Given the description of an element on the screen output the (x, y) to click on. 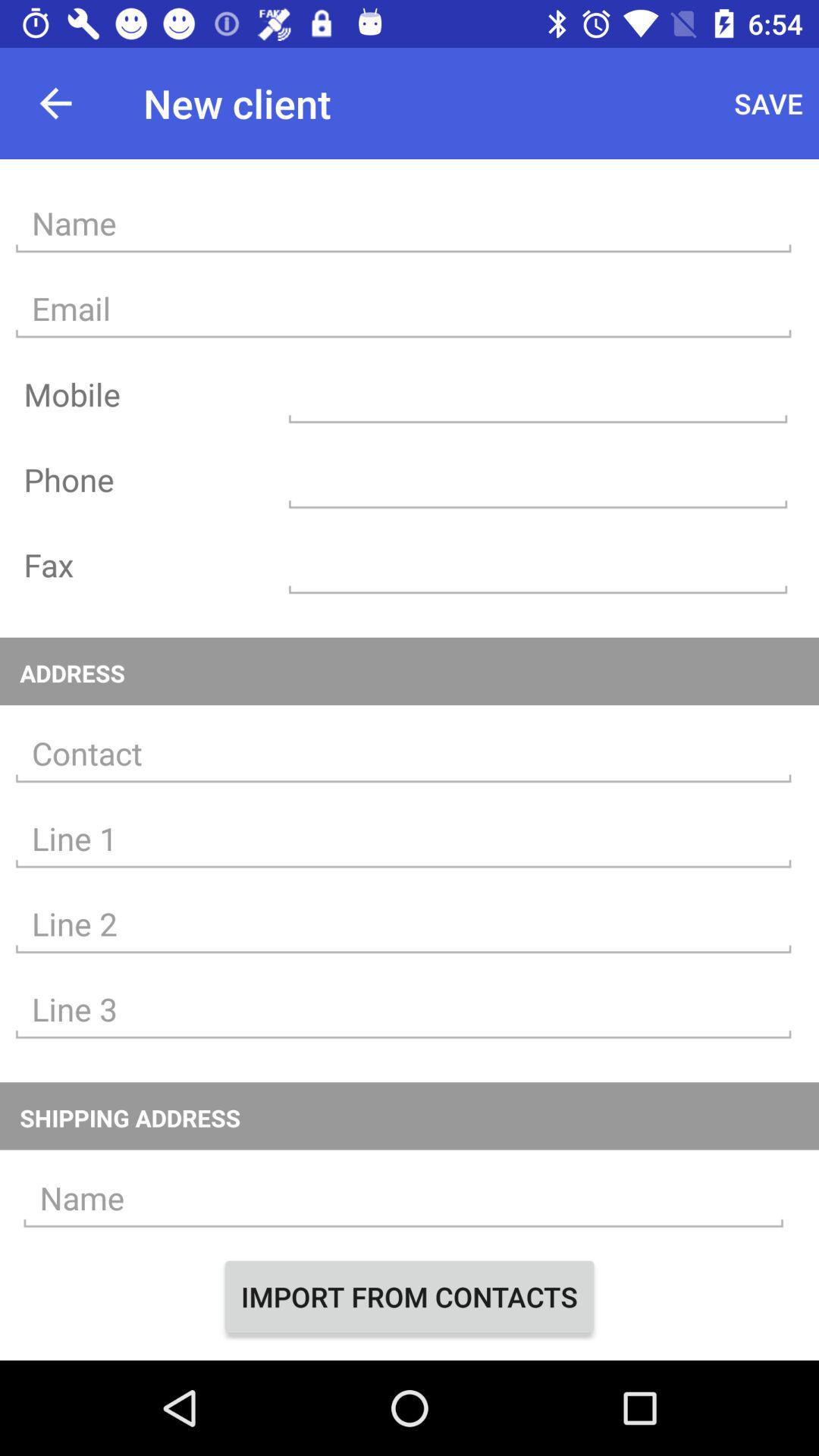
enter name (403, 223)
